Given the description of an element on the screen output the (x, y) to click on. 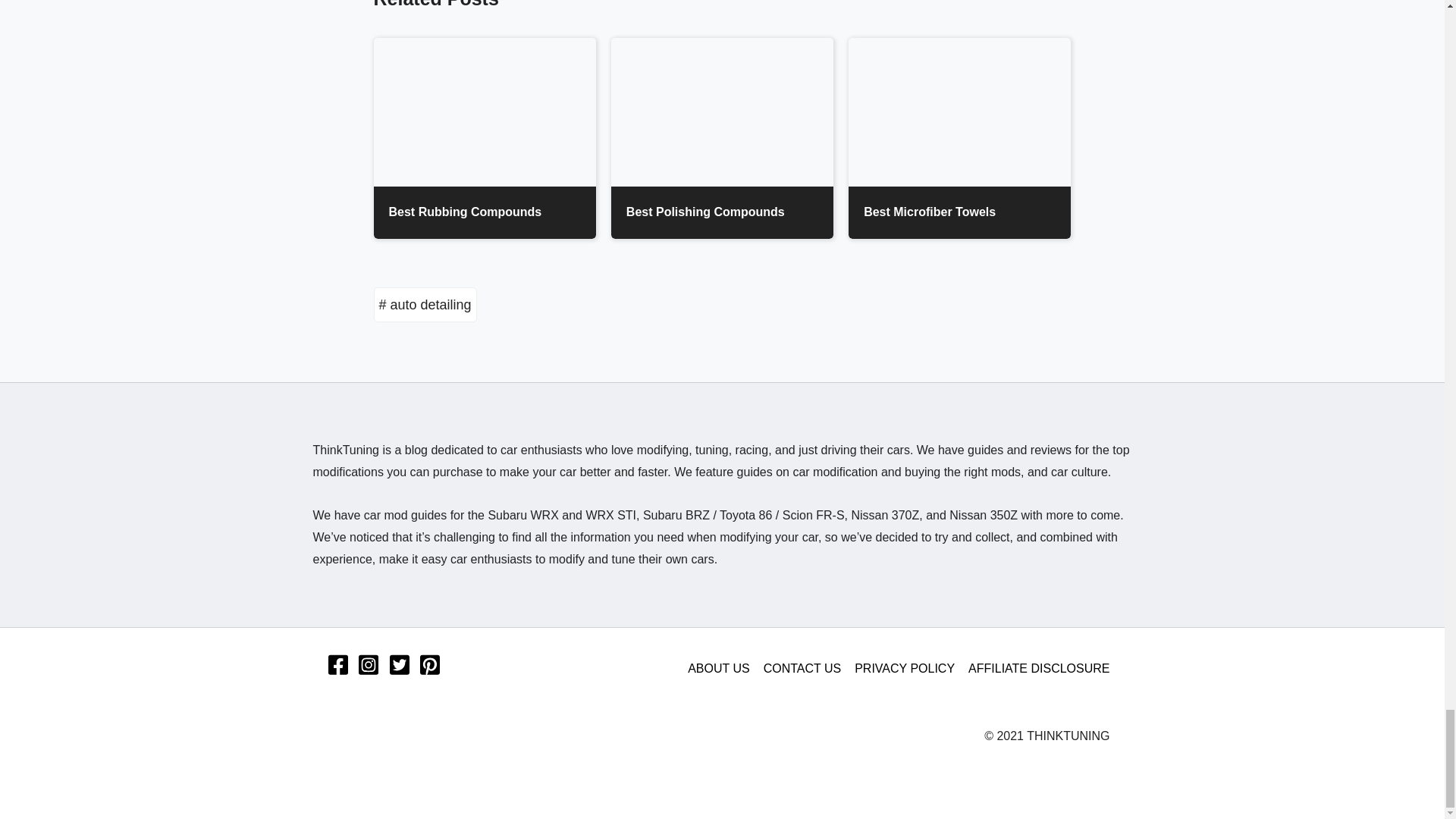
Best Polishing Compounds (721, 137)
Best Rubbing Compounds (483, 137)
